Given the description of an element on the screen output the (x, y) to click on. 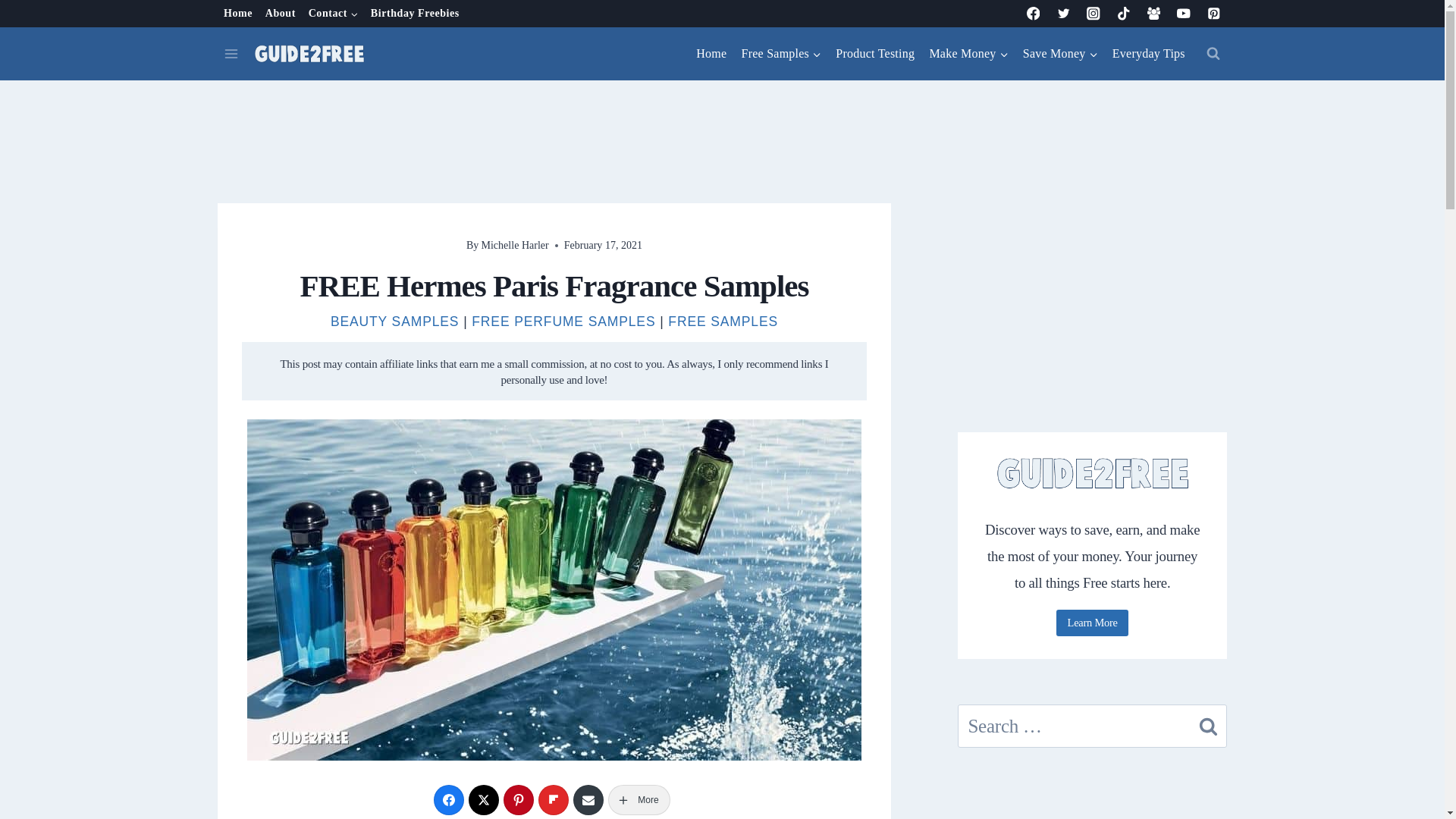
Home (710, 54)
Home (237, 13)
About (280, 13)
Free Samples (780, 54)
Birthday Freebies (414, 13)
Contact (332, 13)
